Given the description of an element on the screen output the (x, y) to click on. 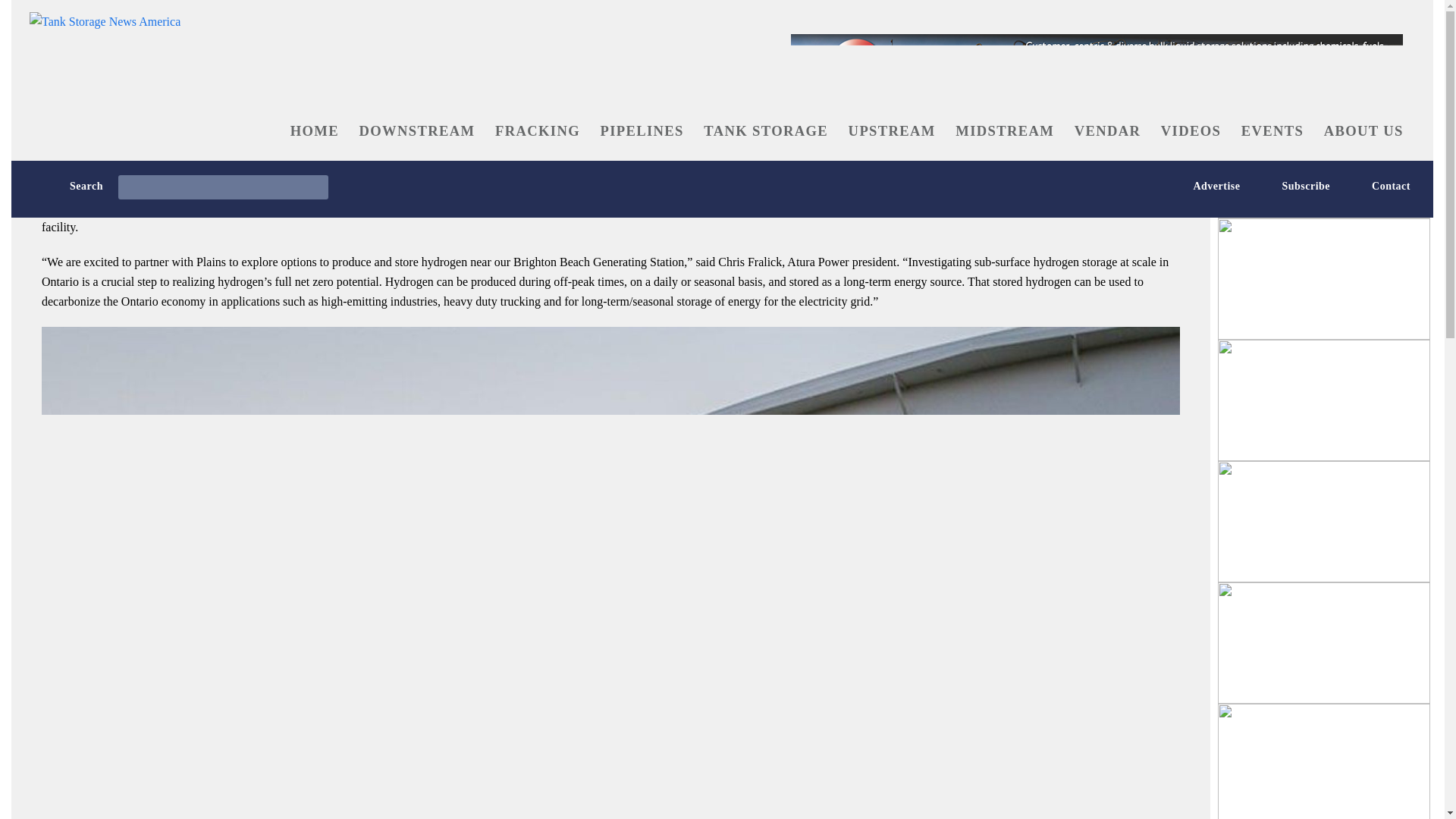
TANK STORAGE (766, 130)
VENDAR (1107, 130)
HOME (314, 130)
Subscribe (1285, 185)
DOWNSTREAM (416, 130)
MIDSTREAM (1004, 130)
EVENTS (1271, 130)
VIDEOS (1191, 130)
Advertise (1195, 185)
Contact (1370, 185)
